Given the description of an element on the screen output the (x, y) to click on. 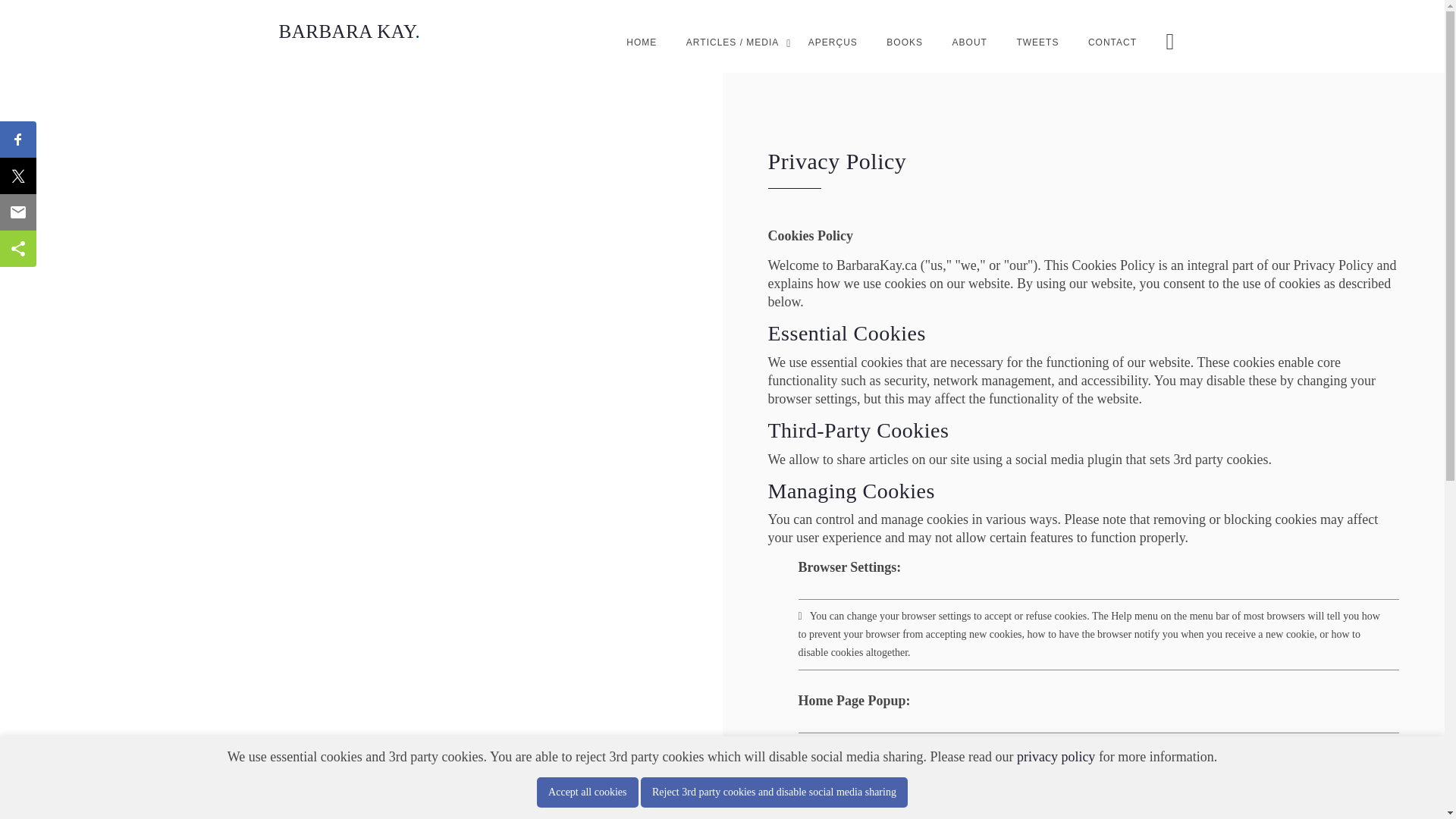
Accept all cookies (587, 792)
BARBARA KAY. (349, 31)
Reject 3rd party cookies and disable social media sharing (773, 792)
ABOUT (969, 41)
TWEETS (1037, 41)
BOOKS (904, 41)
privacy policy (1055, 756)
CONTACT (1112, 41)
HOME (641, 41)
